Given the description of an element on the screen output the (x, y) to click on. 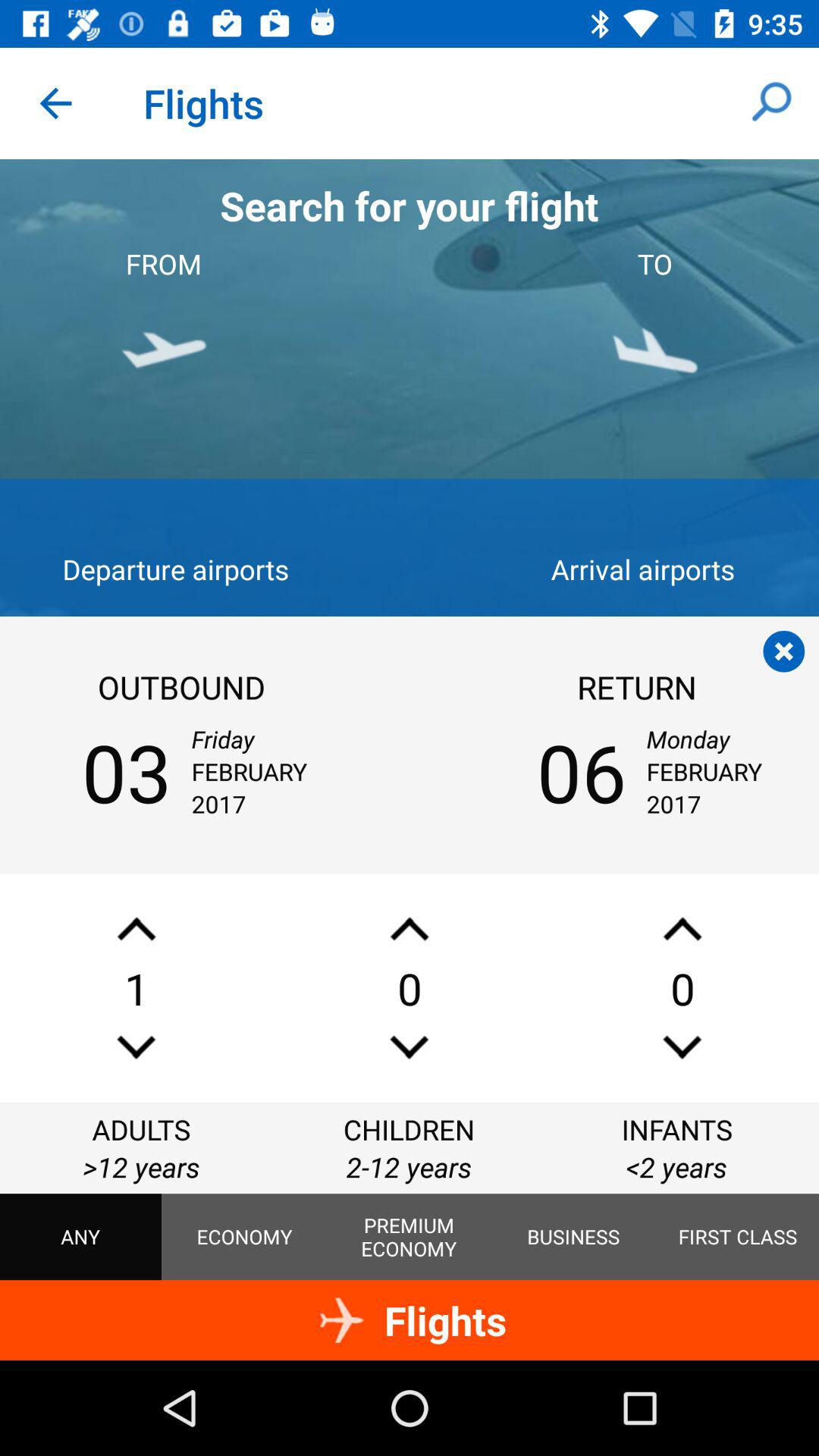
reduce number of children (409, 1047)
